Given the description of an element on the screen output the (x, y) to click on. 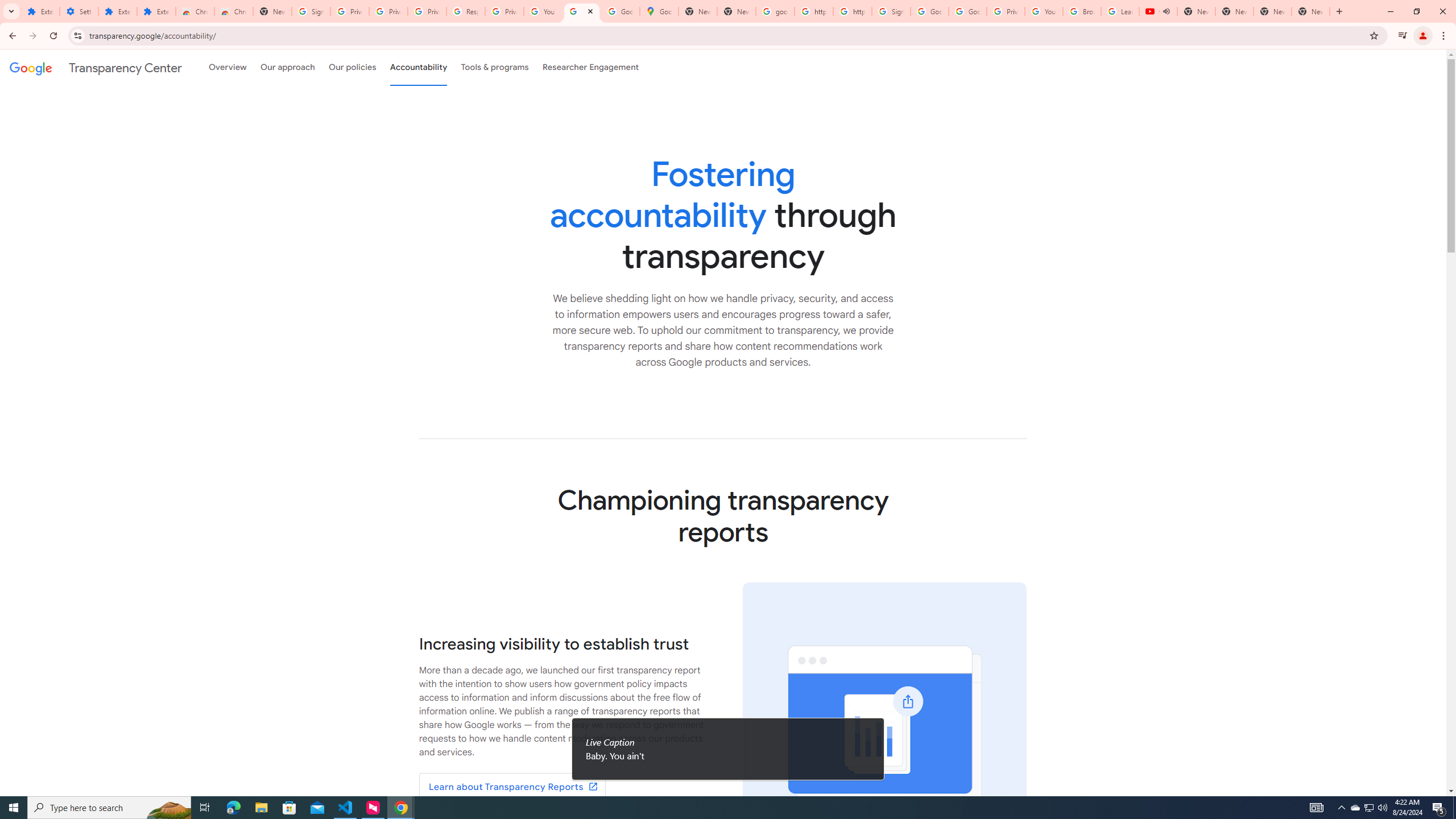
Chrome Web Store - Themes (233, 11)
New Tab (1311, 11)
Accountability (418, 67)
Researcher Engagement (590, 67)
Control your music, videos, and more (1402, 35)
https://scholar.google.com/ (813, 11)
Overview (226, 67)
Browse Chrome as a guest - Computer - Google Chrome Help (1082, 11)
